Given the description of an element on the screen output the (x, y) to click on. 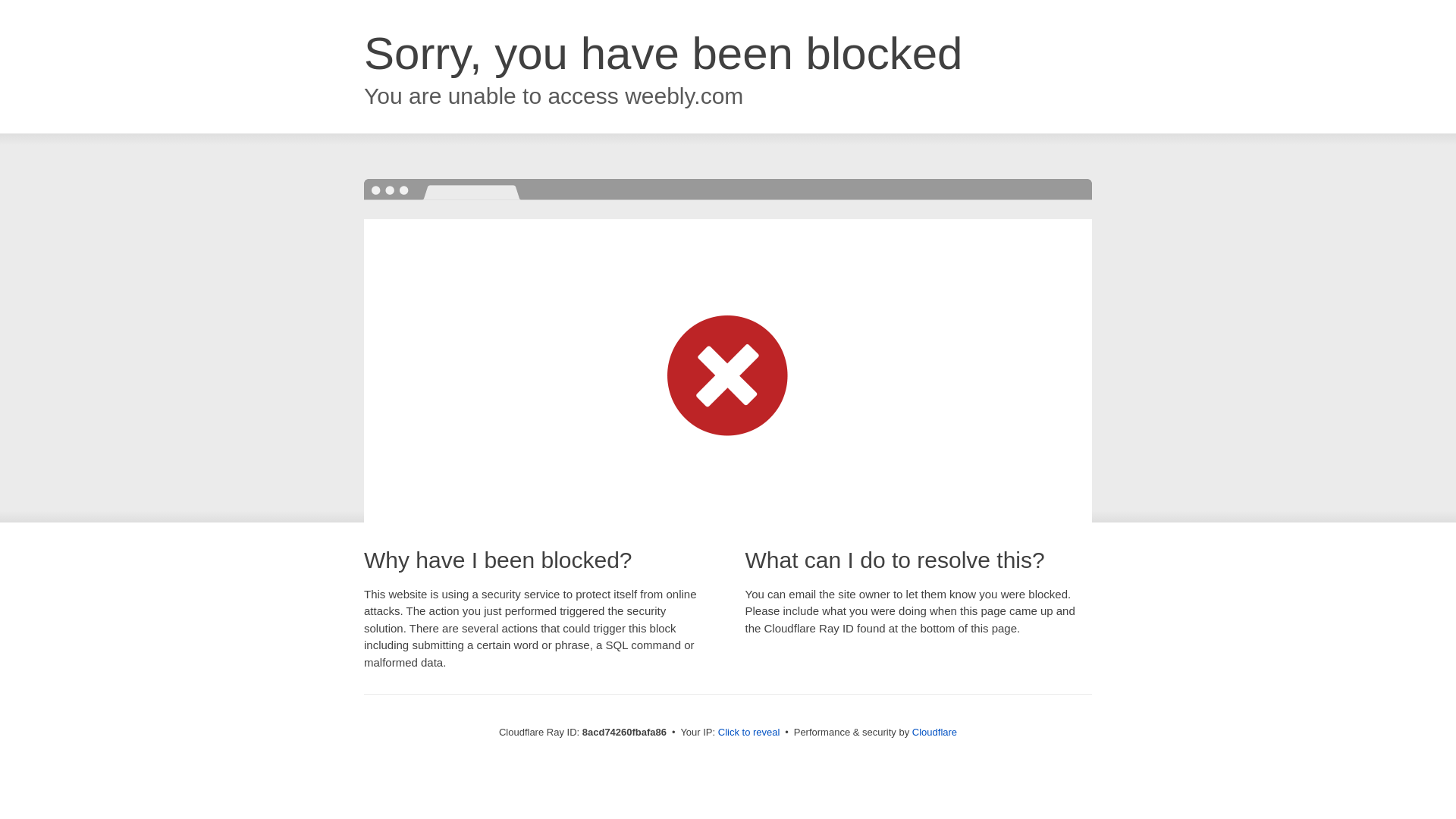
Click to reveal (748, 732)
Cloudflare (934, 731)
